Given the description of an element on the screen output the (x, y) to click on. 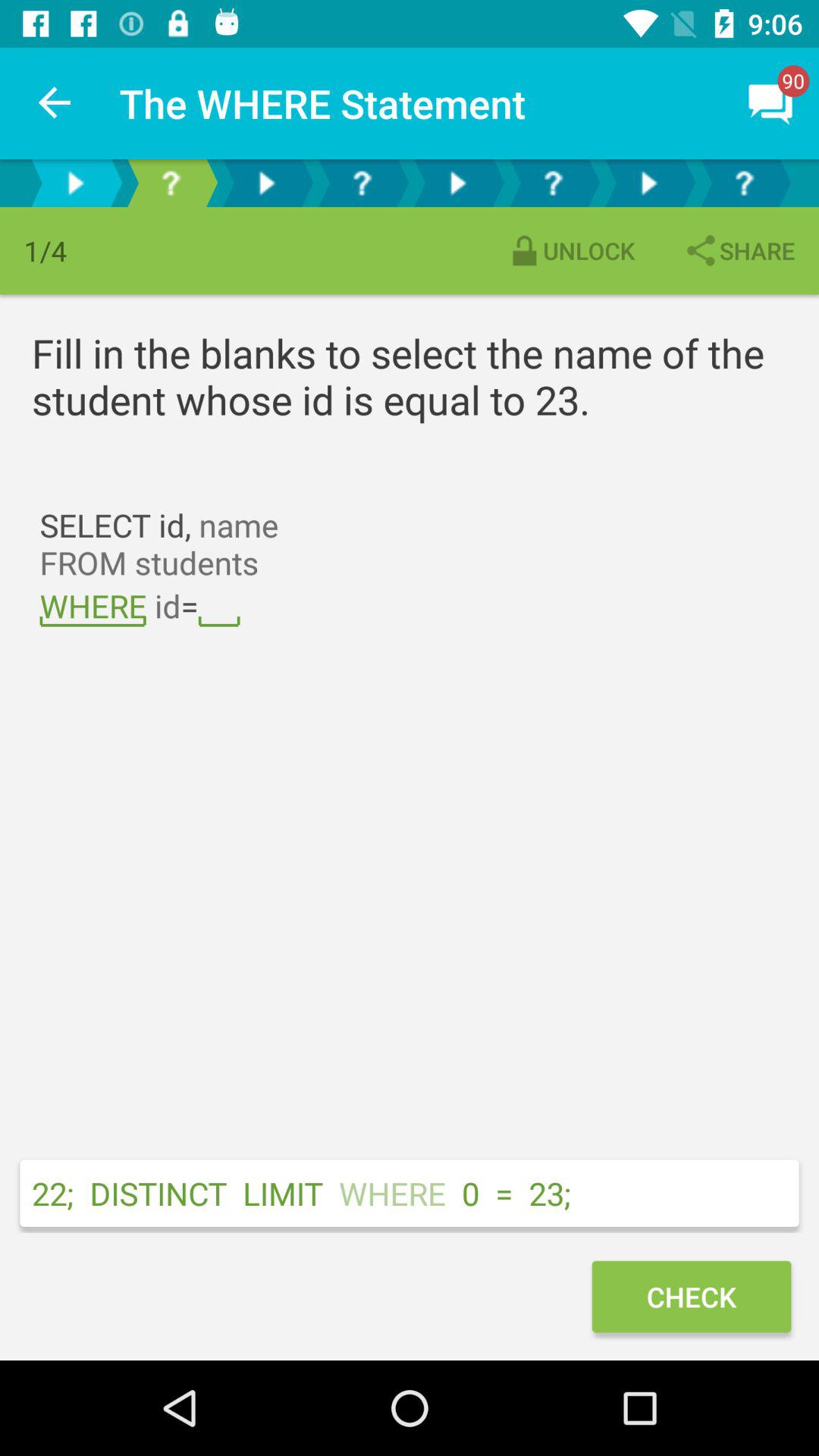
select the next page (170, 183)
